Given the description of an element on the screen output the (x, y) to click on. 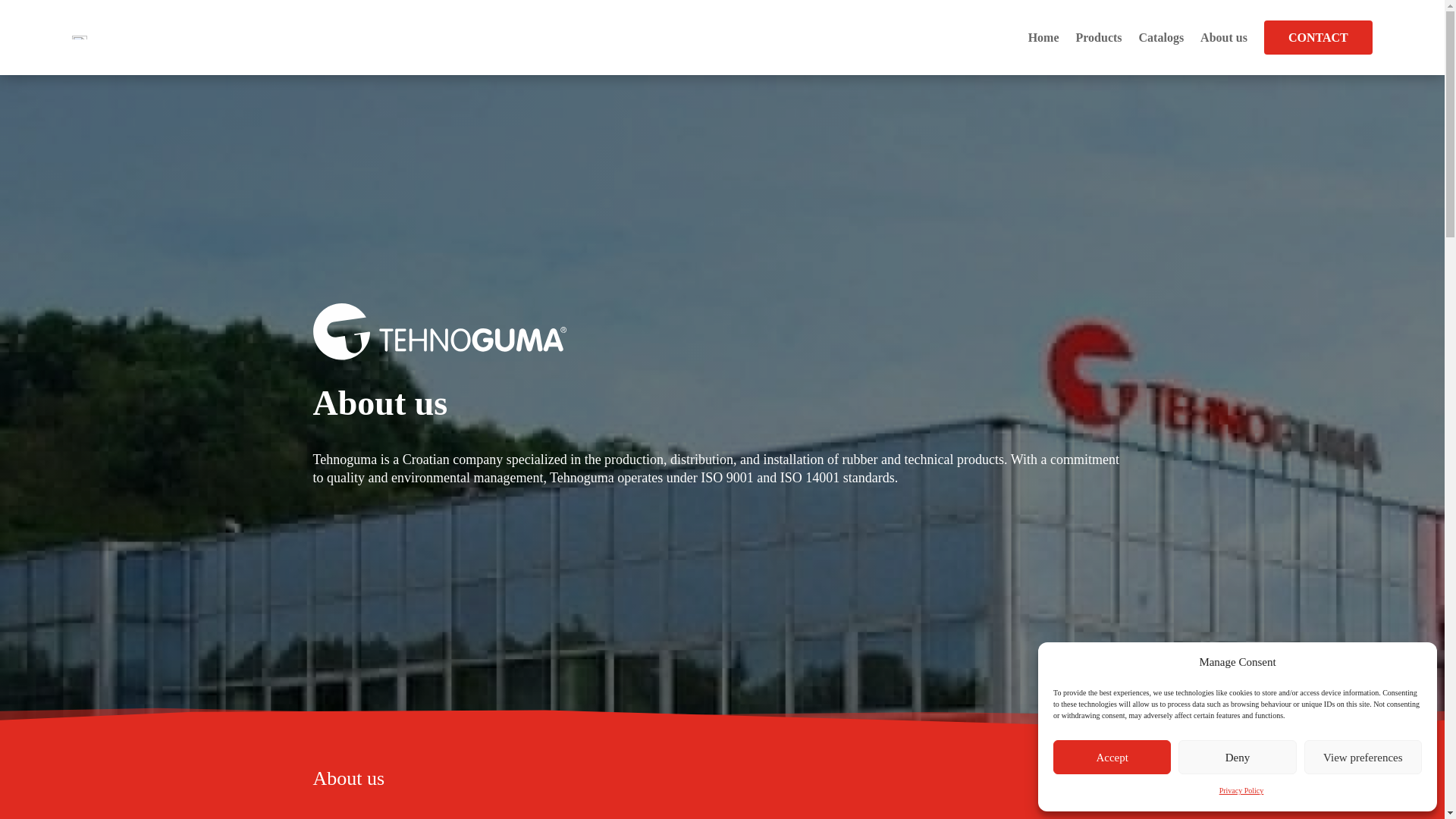
About us (1223, 36)
tehnoguma-logo white (439, 331)
View preferences (1363, 756)
Home (1043, 36)
Deny (1236, 756)
Products (1098, 36)
Privacy Policy (1241, 791)
Catalogs (1161, 36)
CONTACT (1318, 37)
Accept (1111, 756)
